Given the description of an element on the screen output the (x, y) to click on. 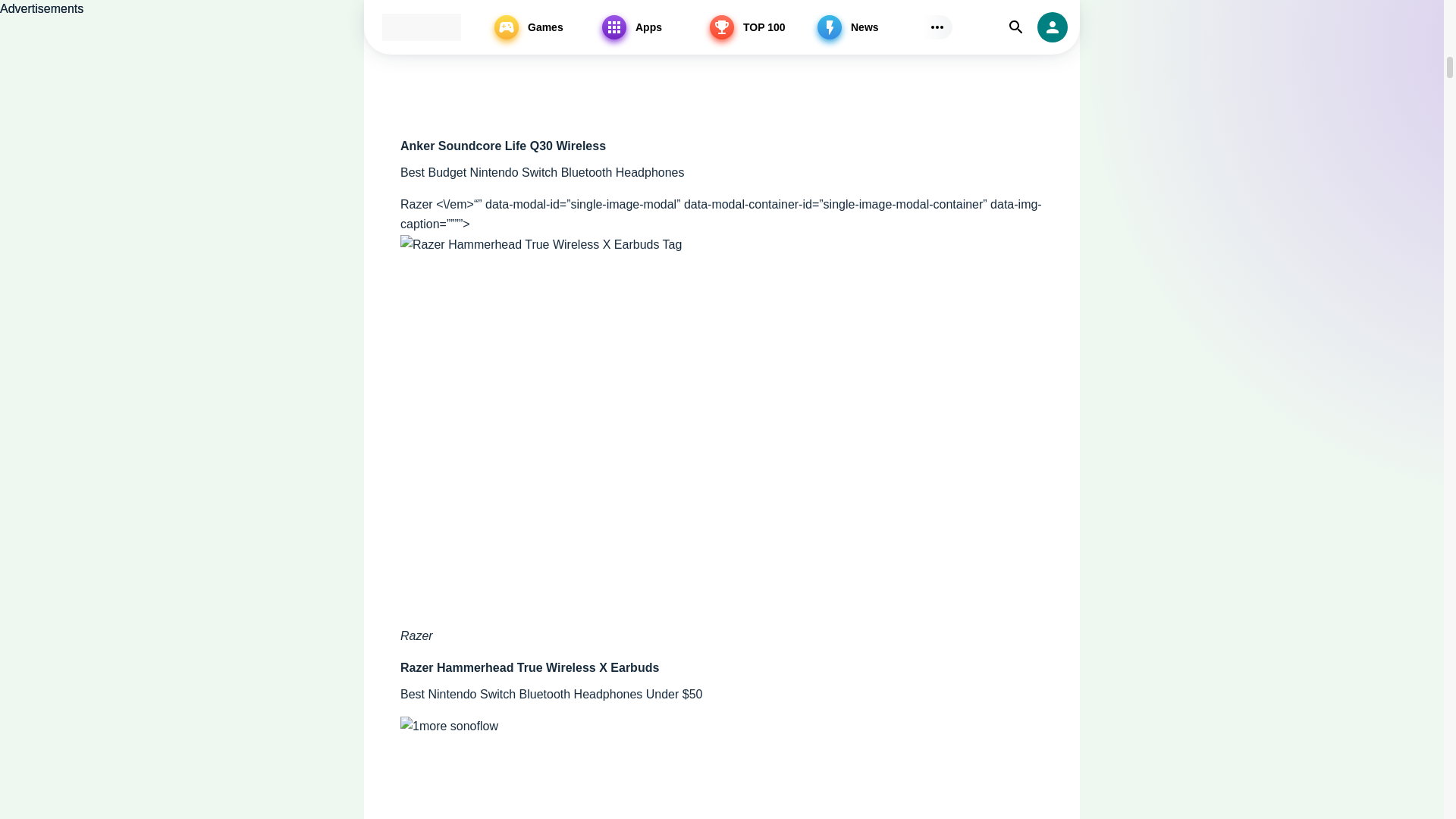
The Best Bluetooth Headphones for Nintendo Switch of 2024 2 (721, 62)
The Best Bluetooth Headphones for Nintendo Switch of 2024 4 (589, 767)
